Given the description of an element on the screen output the (x, y) to click on. 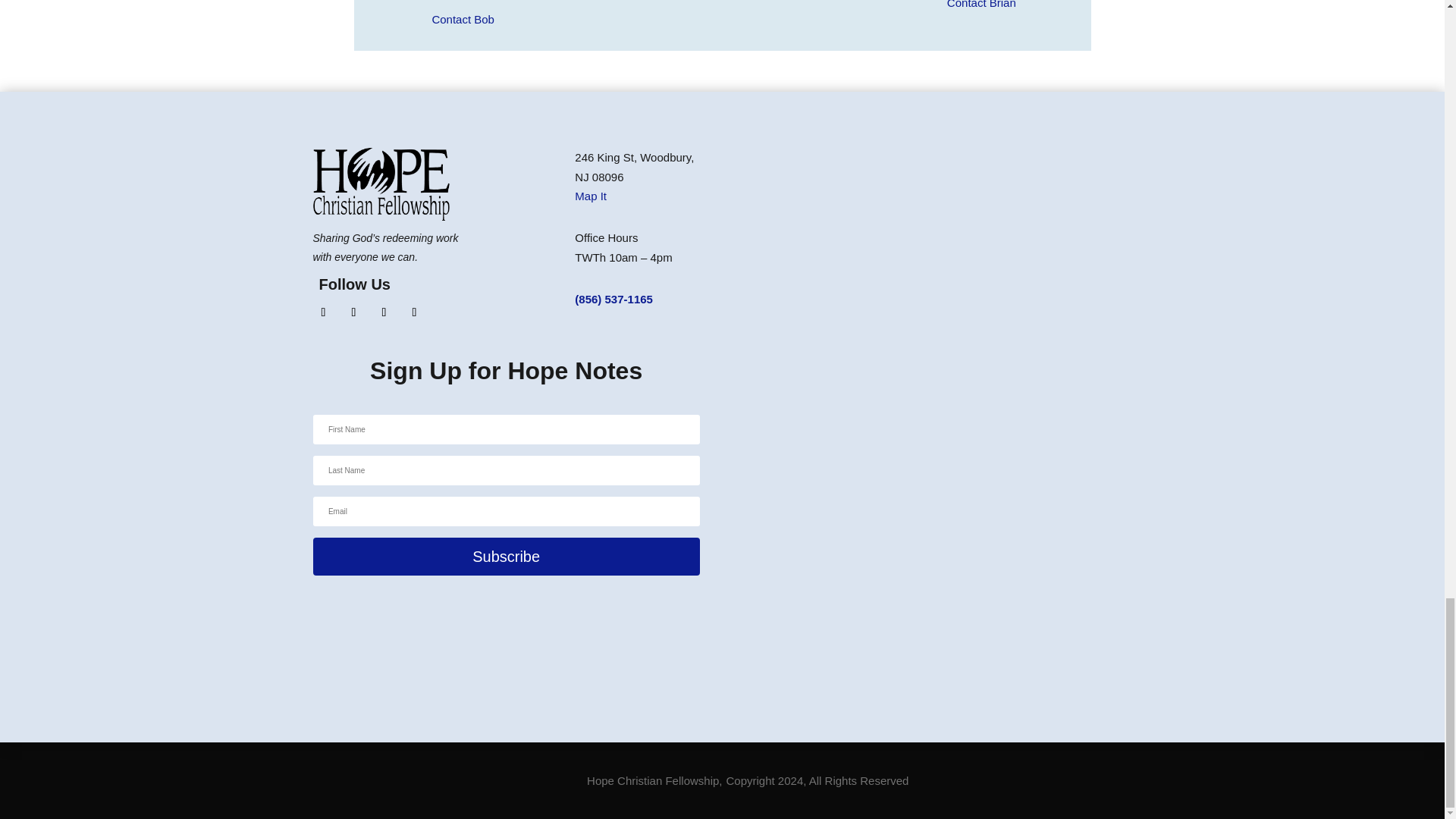
Follow on Youtube (383, 312)
Follow on Google (413, 312)
hope-christian-fellowship-woodburty (380, 184)
Follow on Instagram (352, 312)
Follow on Facebook (322, 312)
